Given the description of an element on the screen output the (x, y) to click on. 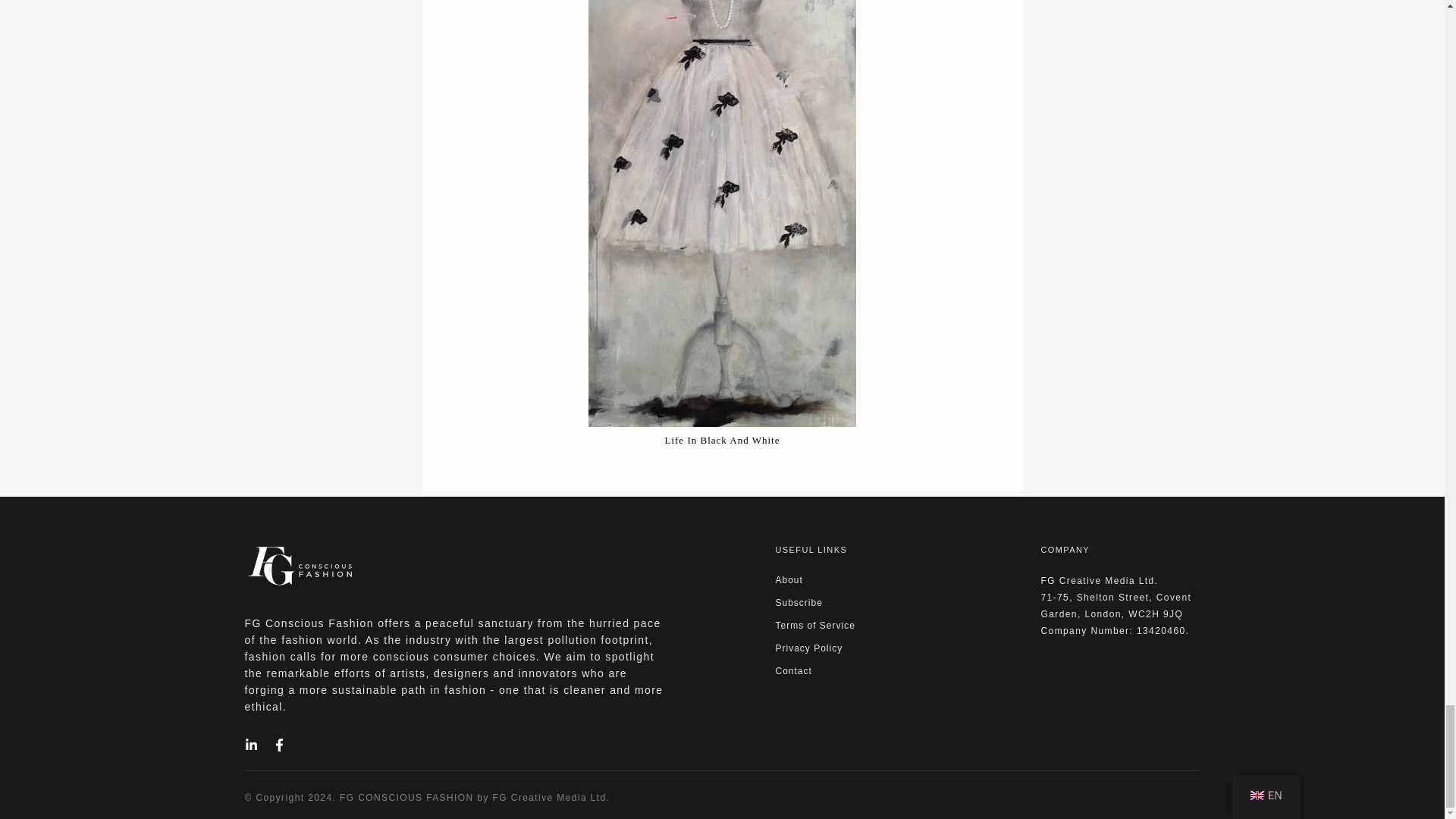
Subscribe (798, 602)
Privacy Policy (808, 647)
Contact (792, 670)
Terms of Service (814, 624)
About (788, 579)
